Given the description of an element on the screen output the (x, y) to click on. 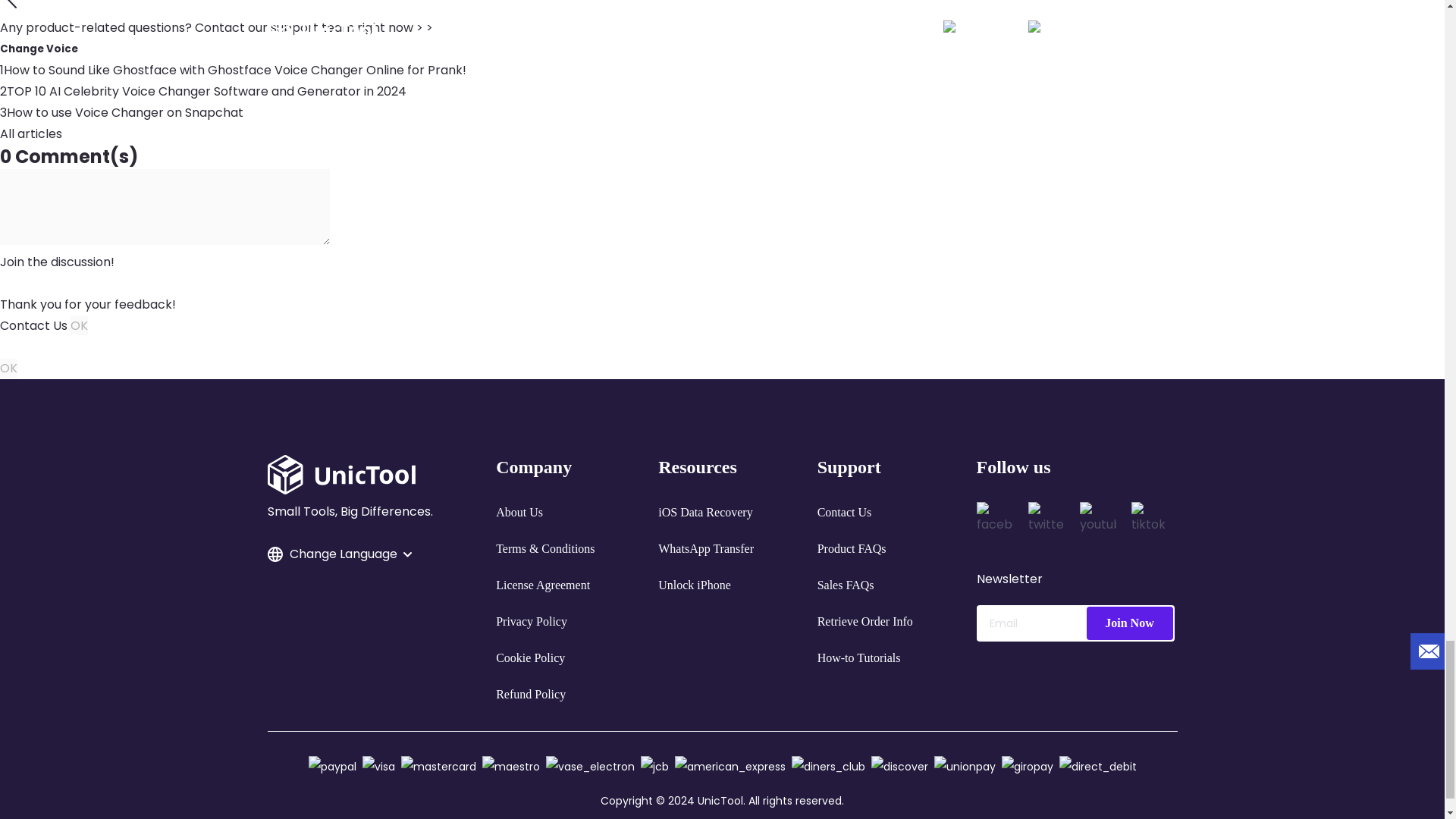
facebook (994, 520)
twitter (1045, 520)
tiktok (1149, 520)
youtube (1098, 520)
